Given the description of an element on the screen output the (x, y) to click on. 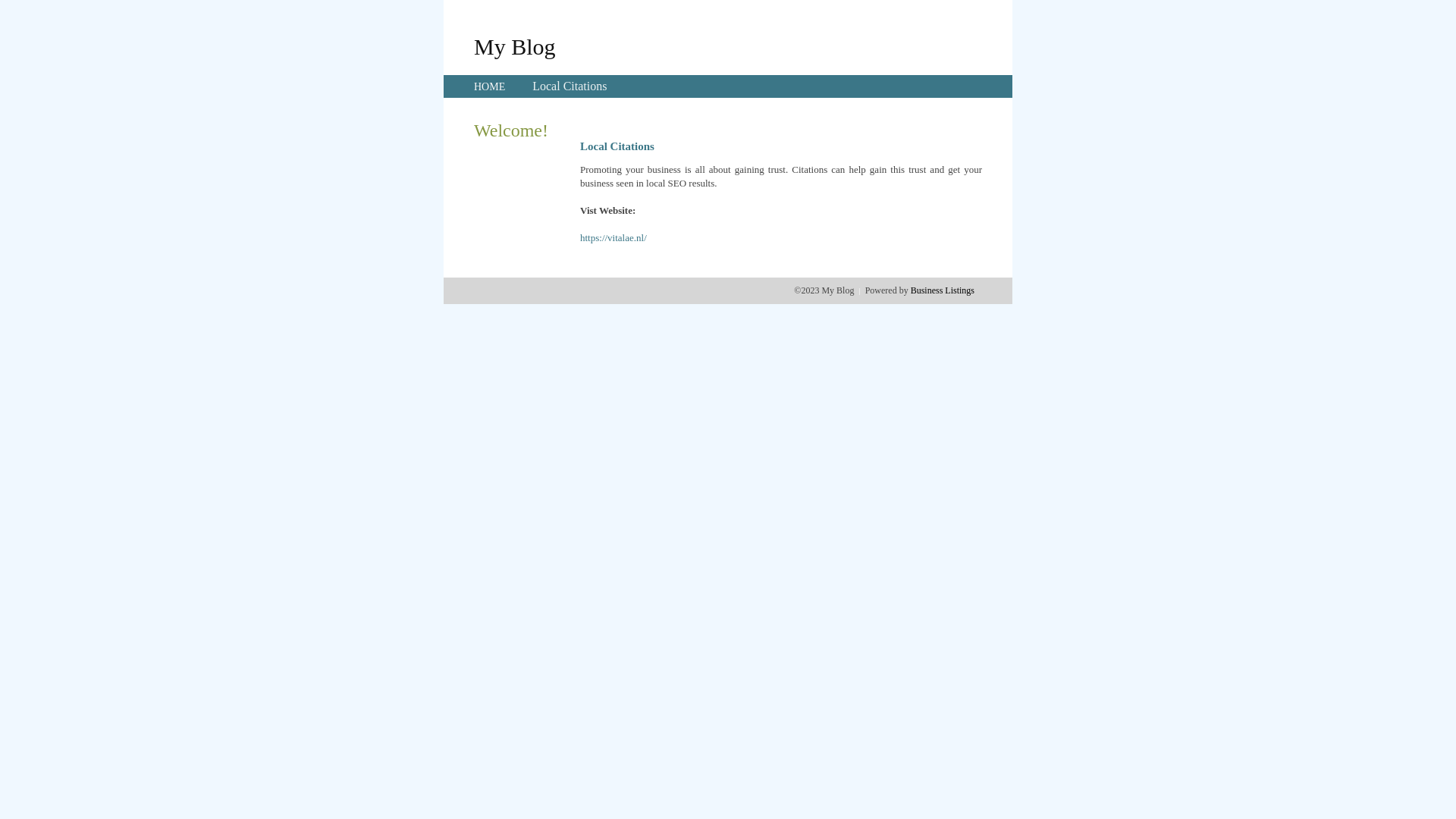
Business Listings Element type: text (942, 290)
Local Citations Element type: text (569, 85)
HOME Element type: text (489, 86)
My Blog Element type: text (514, 46)
https://vitalae.nl/ Element type: text (613, 237)
